Given the description of an element on the screen output the (x, y) to click on. 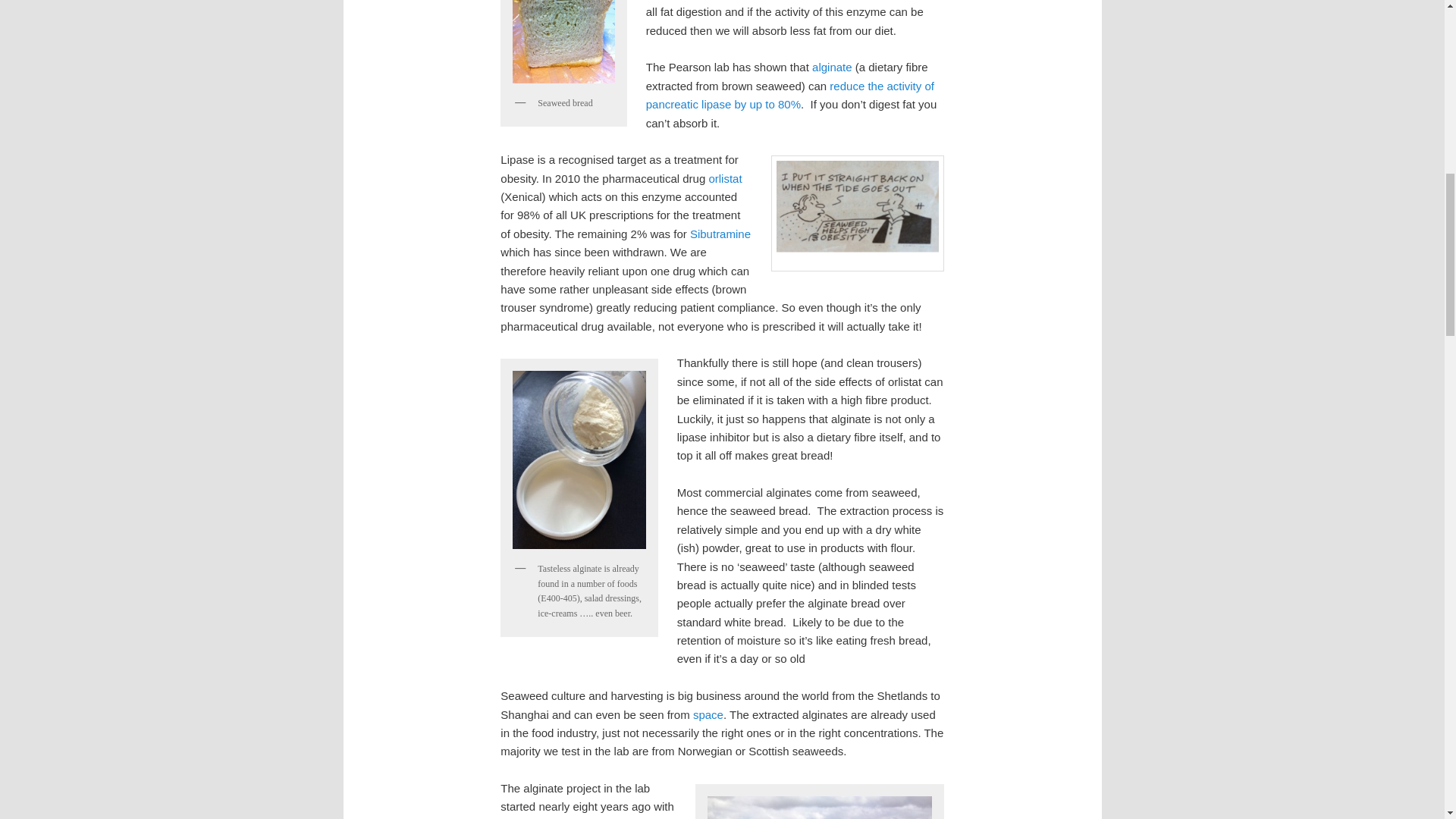
alginate (831, 66)
orlistat (724, 178)
space (708, 714)
Sibutramine (720, 233)
